Given the description of an element on the screen output the (x, y) to click on. 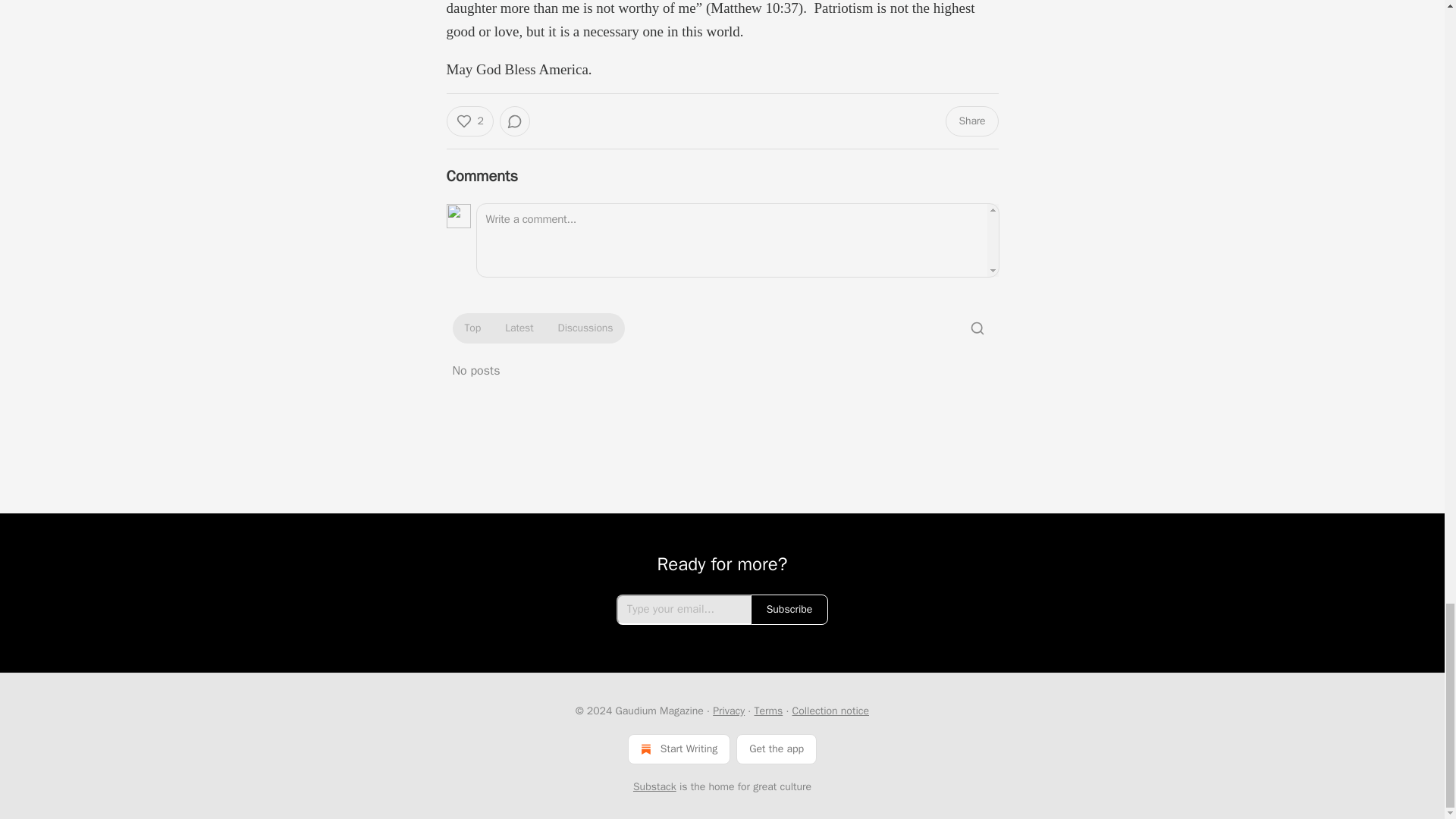
Top (471, 328)
Privacy (728, 710)
Subscribe (789, 609)
Latest (518, 328)
2 (469, 121)
Discussions (585, 328)
Share (970, 121)
